Given the description of an element on the screen output the (x, y) to click on. 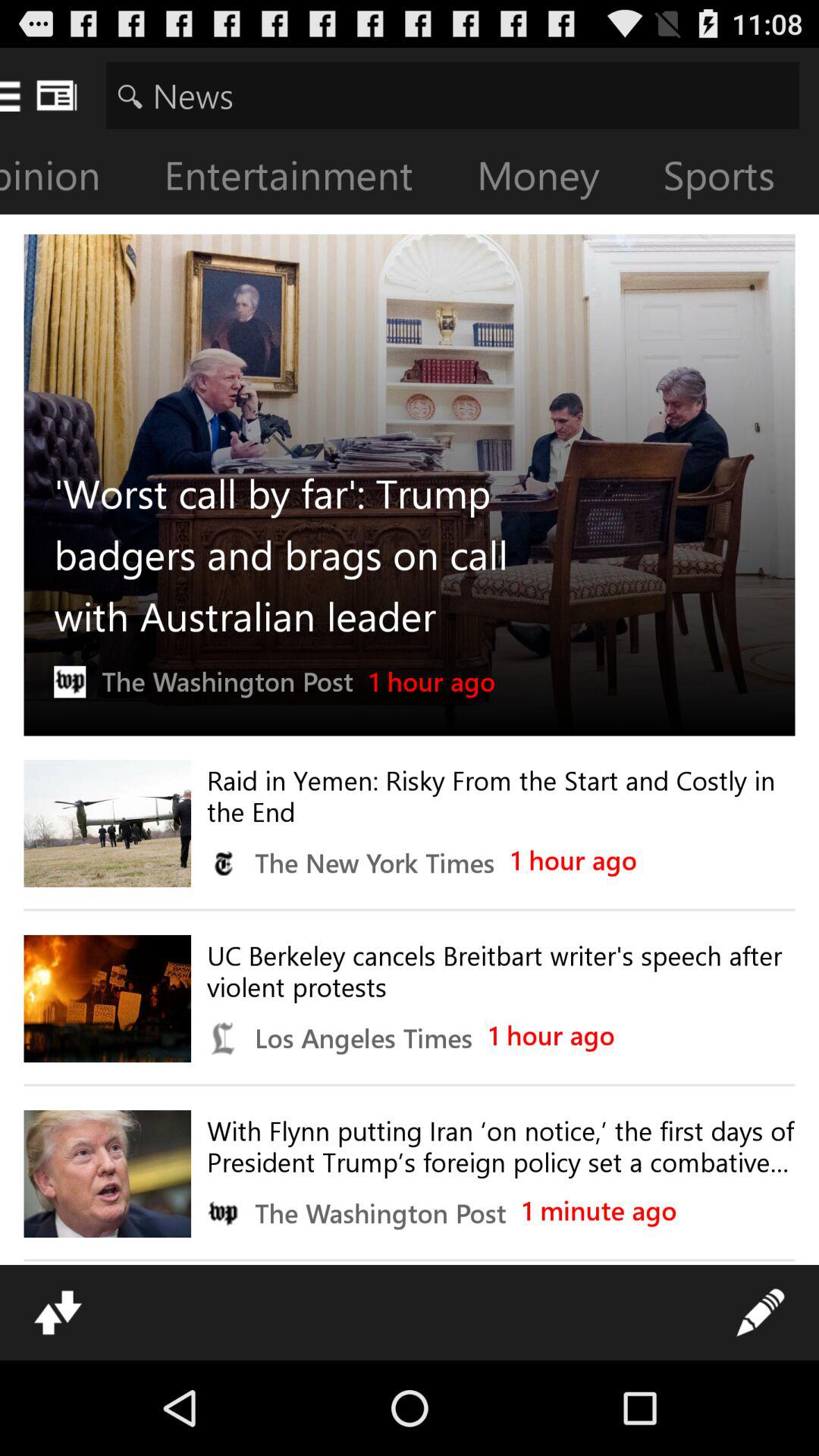
scroll to money (550, 178)
